Given the description of an element on the screen output the (x, y) to click on. 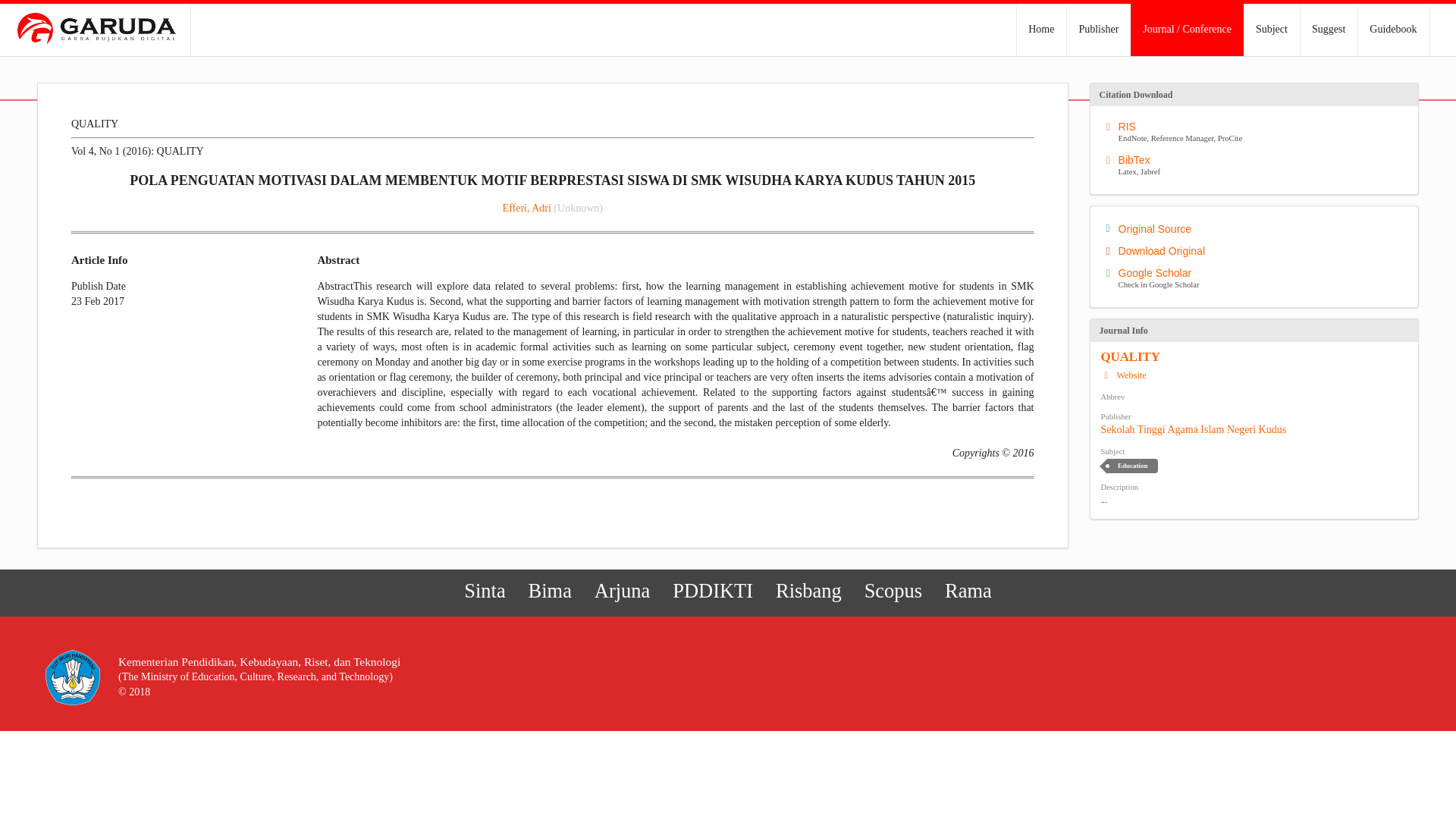
Website (1123, 375)
Original Source (1257, 228)
Education (1257, 132)
Sekolah Tinggi Agama Islam Negeri Kudus (1131, 465)
Arjuna (1193, 429)
Download Original (623, 590)
Efferi, Adri (1257, 250)
Scopus (526, 207)
